Given the description of an element on the screen output the (x, y) to click on. 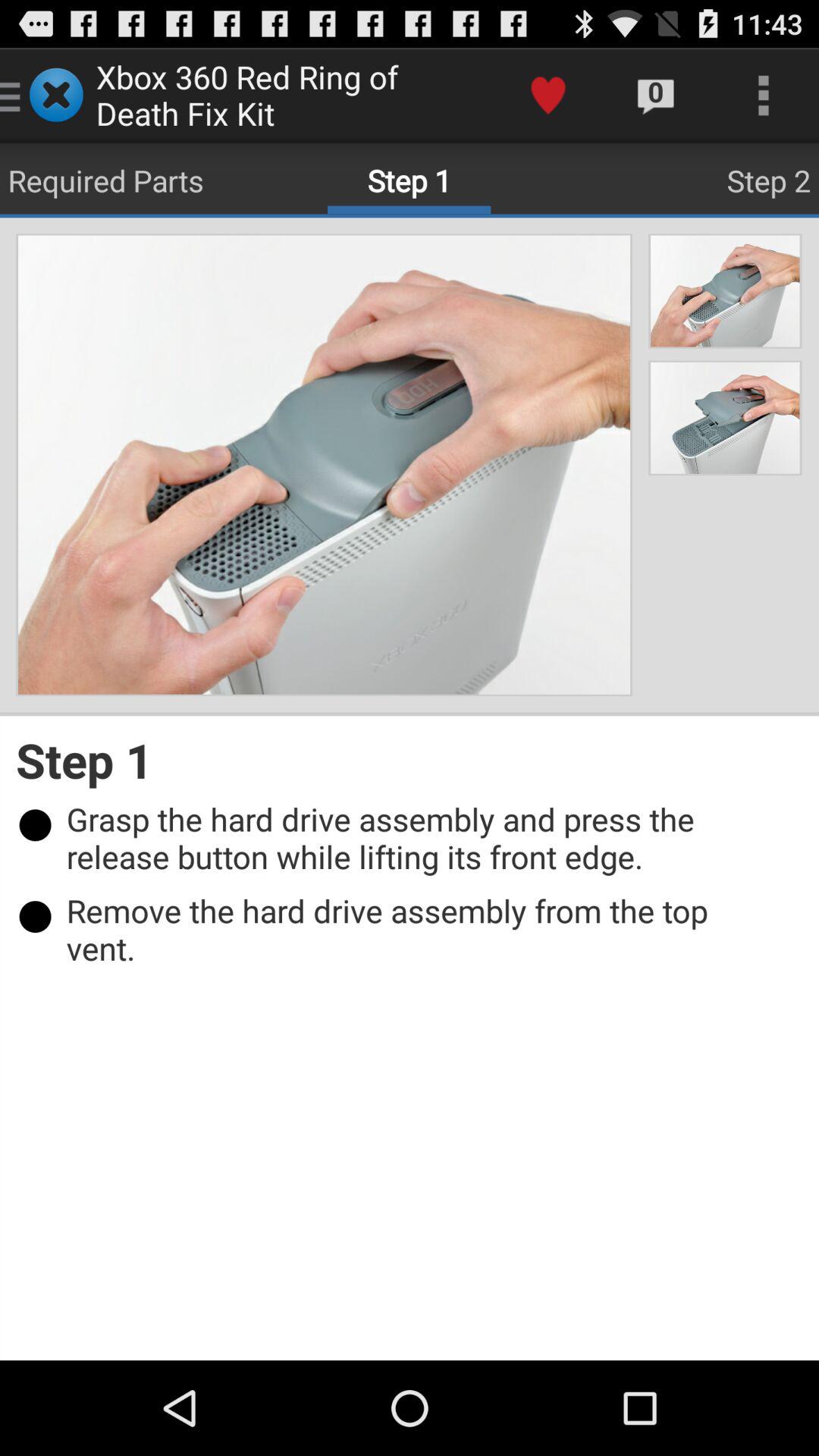
flip until step 1 item (409, 759)
